Given the description of an element on the screen output the (x, y) to click on. 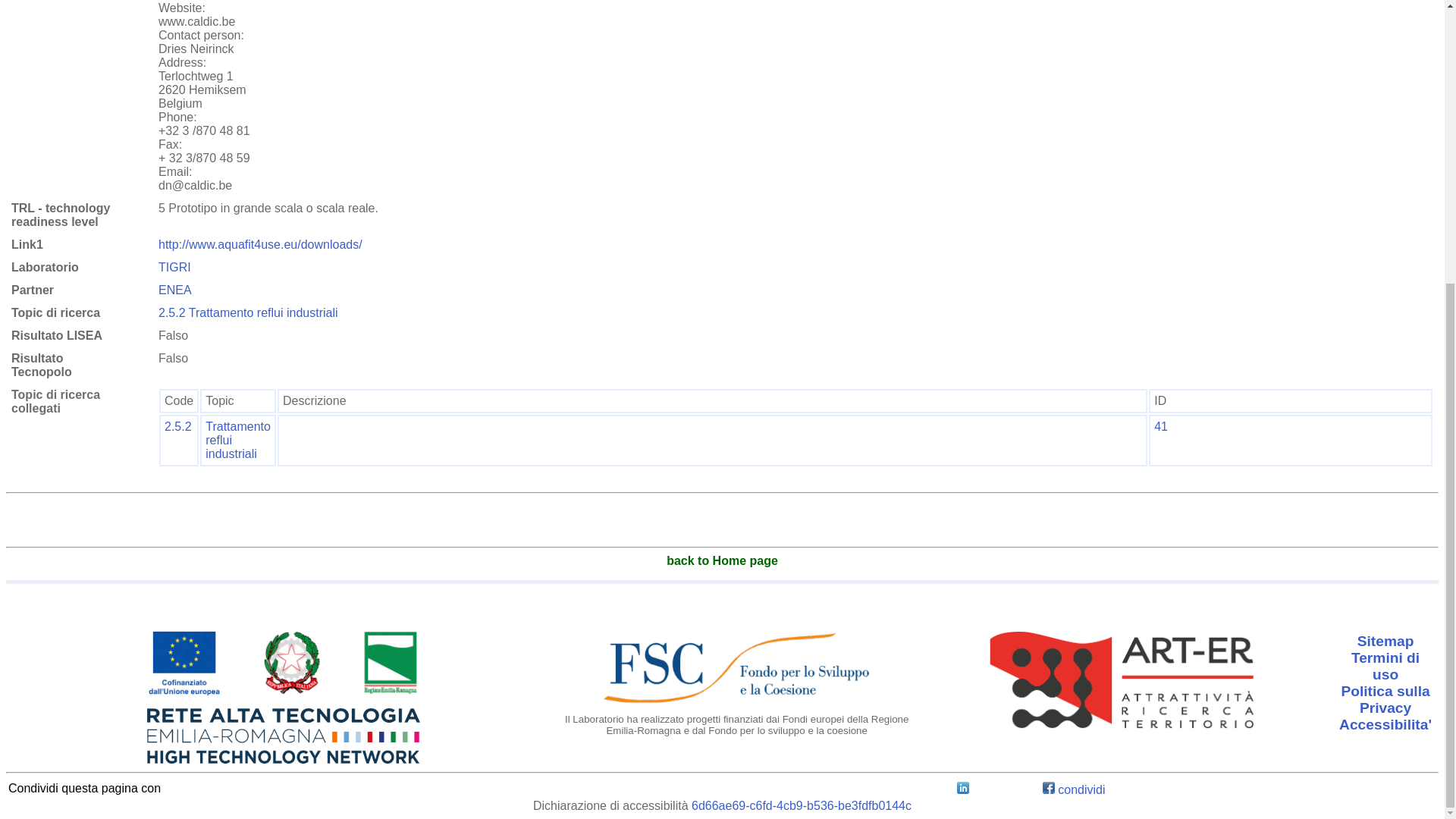
Click per ZOOM della riga (1160, 426)
TIGRI (174, 267)
Politica sulla Privacy (1384, 699)
Termini di uso (1385, 666)
2.5.2 Trattamento reflui industriali (247, 312)
Trattamento reflui industriali (237, 440)
ENEA (175, 289)
Click per ZOOM della riga (237, 440)
2.5.2 (178, 426)
condividi (1073, 789)
